Given the description of an element on the screen output the (x, y) to click on. 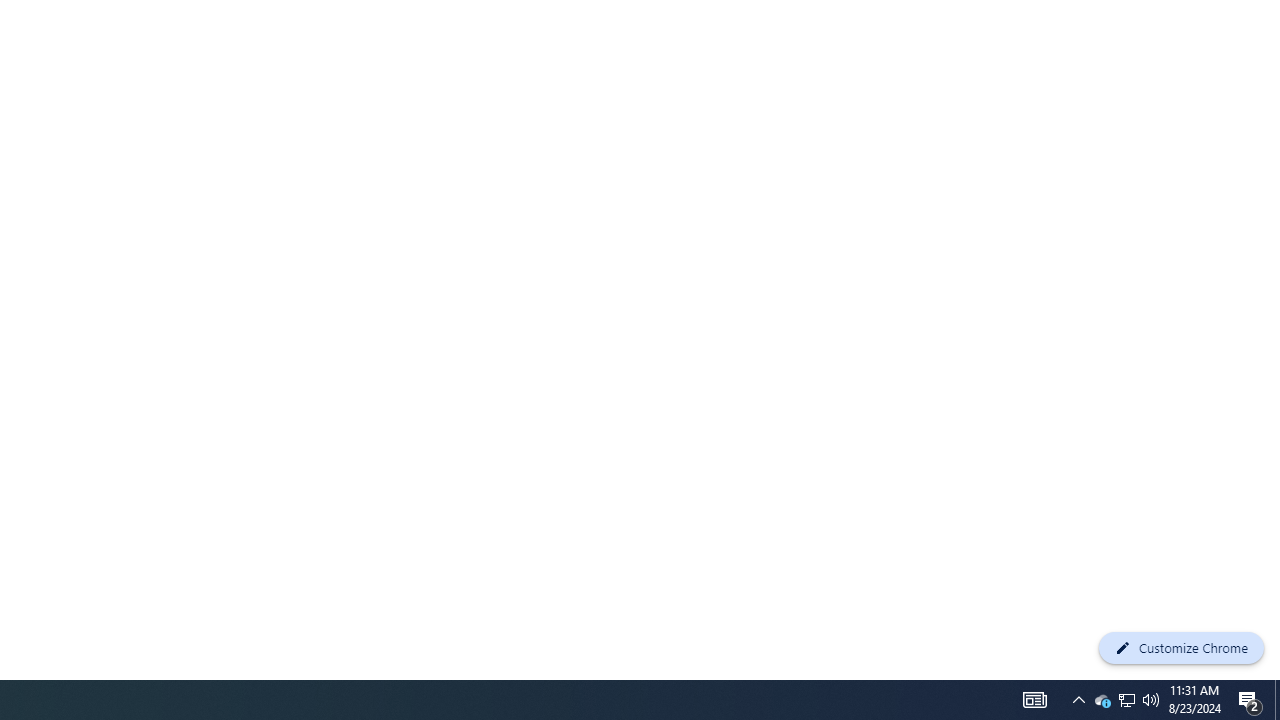
Customize Chrome (1181, 647)
